Given the description of an element on the screen output the (x, y) to click on. 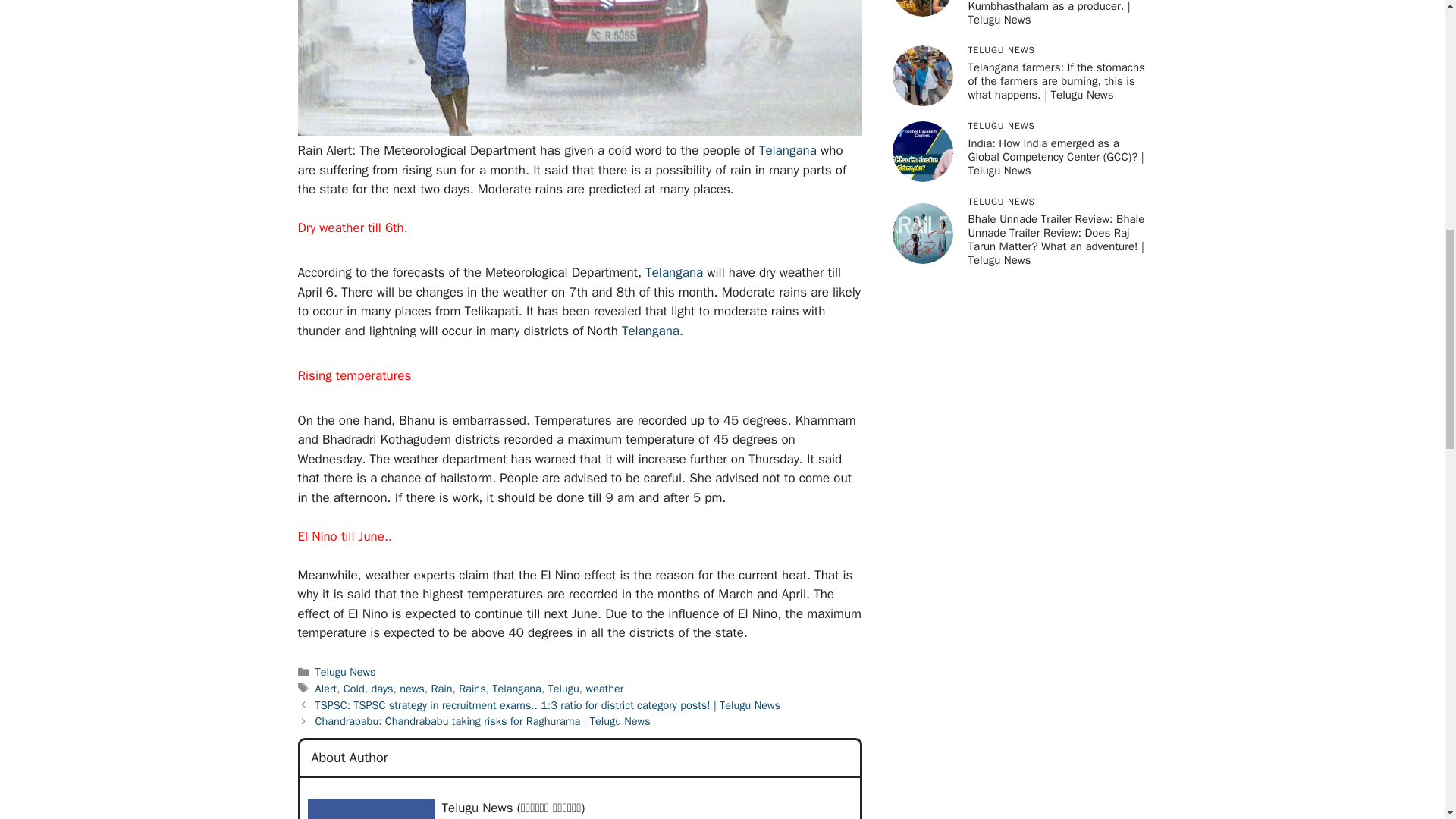
news (411, 688)
Rains (471, 688)
Telangana (674, 272)
Cold (354, 688)
Scroll back to top (1406, 720)
Rain (441, 688)
Telugu News (345, 671)
Telangana (650, 330)
unnamed (370, 808)
weather (604, 688)
